Given the description of an element on the screen output the (x, y) to click on. 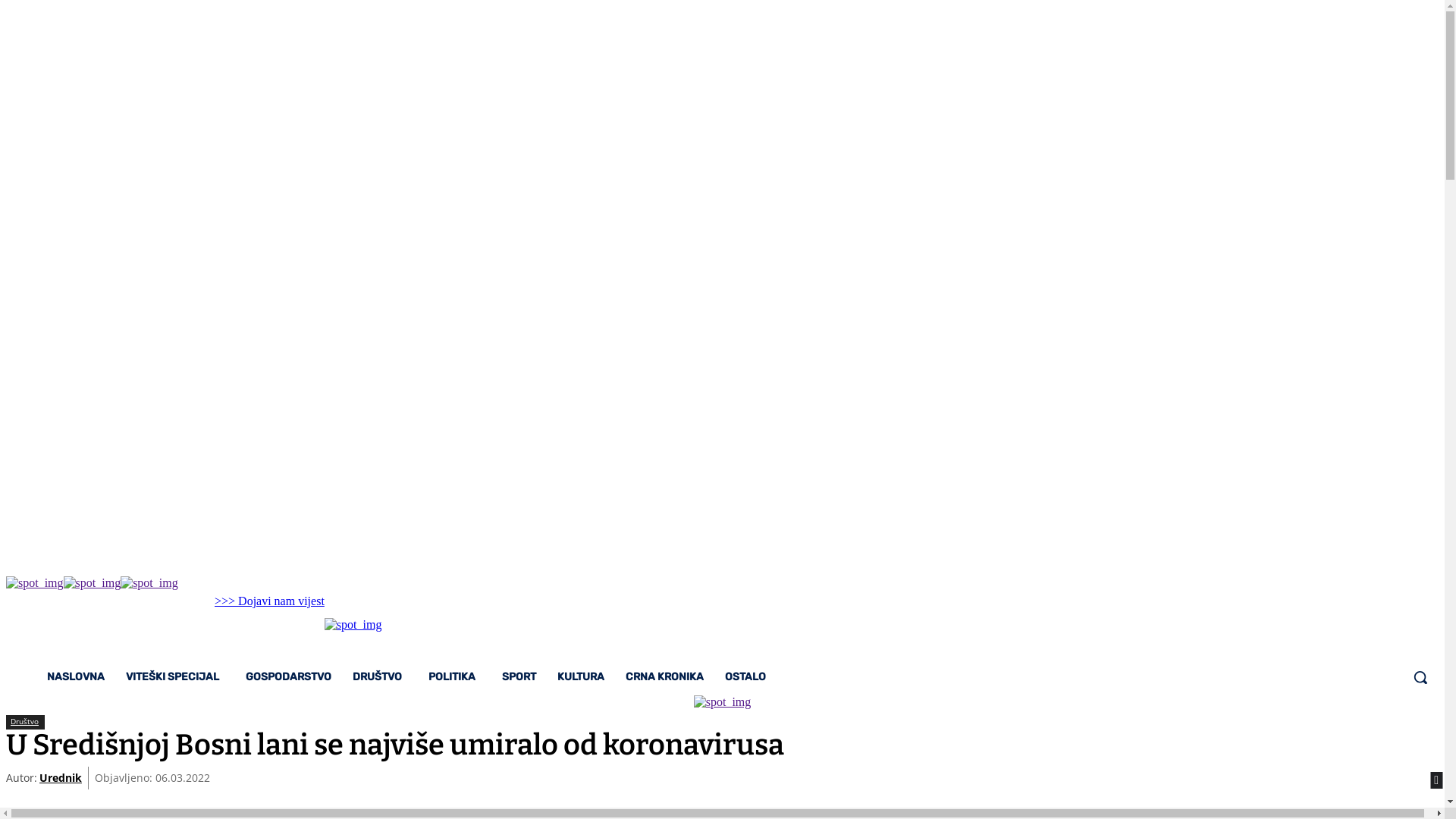
POLITIKA Element type: text (454, 676)
GOSPODARSTVO Element type: text (288, 676)
NASLOVNA Element type: text (75, 676)
Instagram Element type: hover (264, 627)
OSTALO Element type: text (747, 676)
SPORT Element type: text (518, 676)
CRNA KRONIKA Element type: text (664, 676)
KULTURA Element type: text (580, 676)
Urednik Element type: text (60, 777)
Youtube Element type: hover (303, 627)
Facebook Element type: hover (226, 627)
>>> Dojavi nam vijest Element type: text (269, 600)
